Given the description of an element on the screen output the (x, y) to click on. 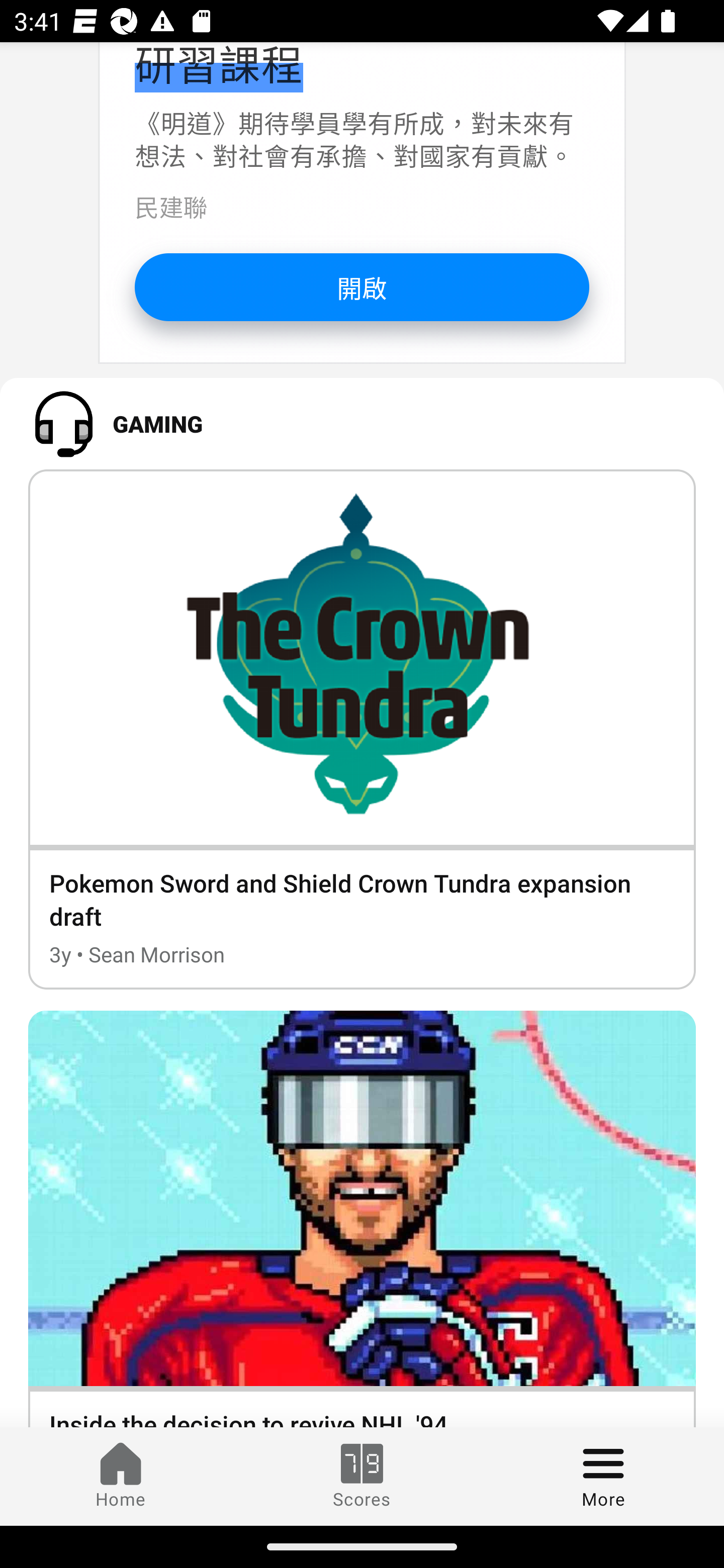
明道-大學生公共治理 研習課程 研習課程 (331, 68)
民建聯 (170, 206)
開啟 (361, 287)
GAMING (362, 422)
Inside the decision to revive NHL '94 (361, 1218)
Home (120, 1475)
Scores (361, 1475)
